Given the description of an element on the screen output the (x, y) to click on. 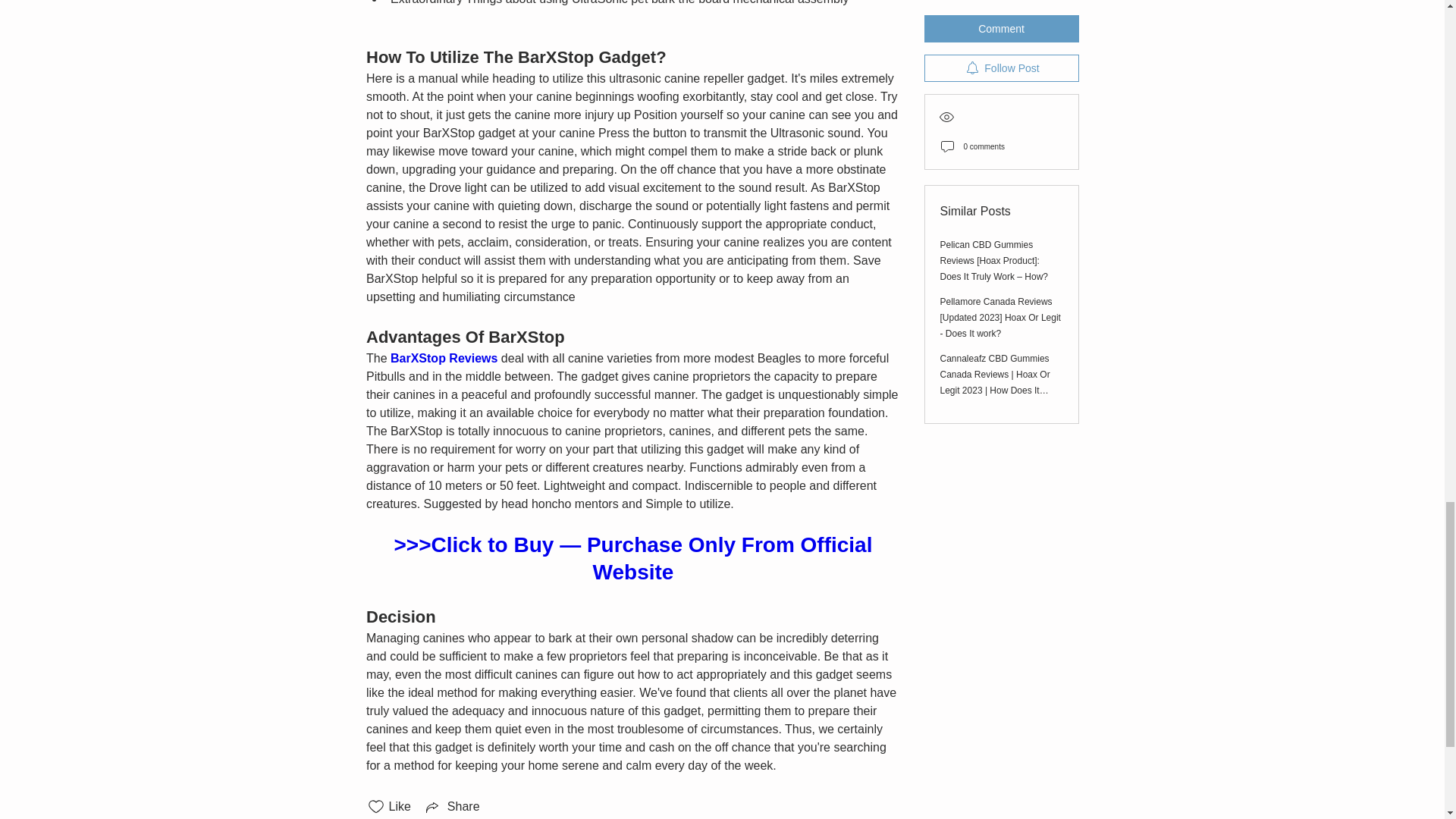
BarXStop Reviews (443, 358)
